Given the description of an element on the screen output the (x, y) to click on. 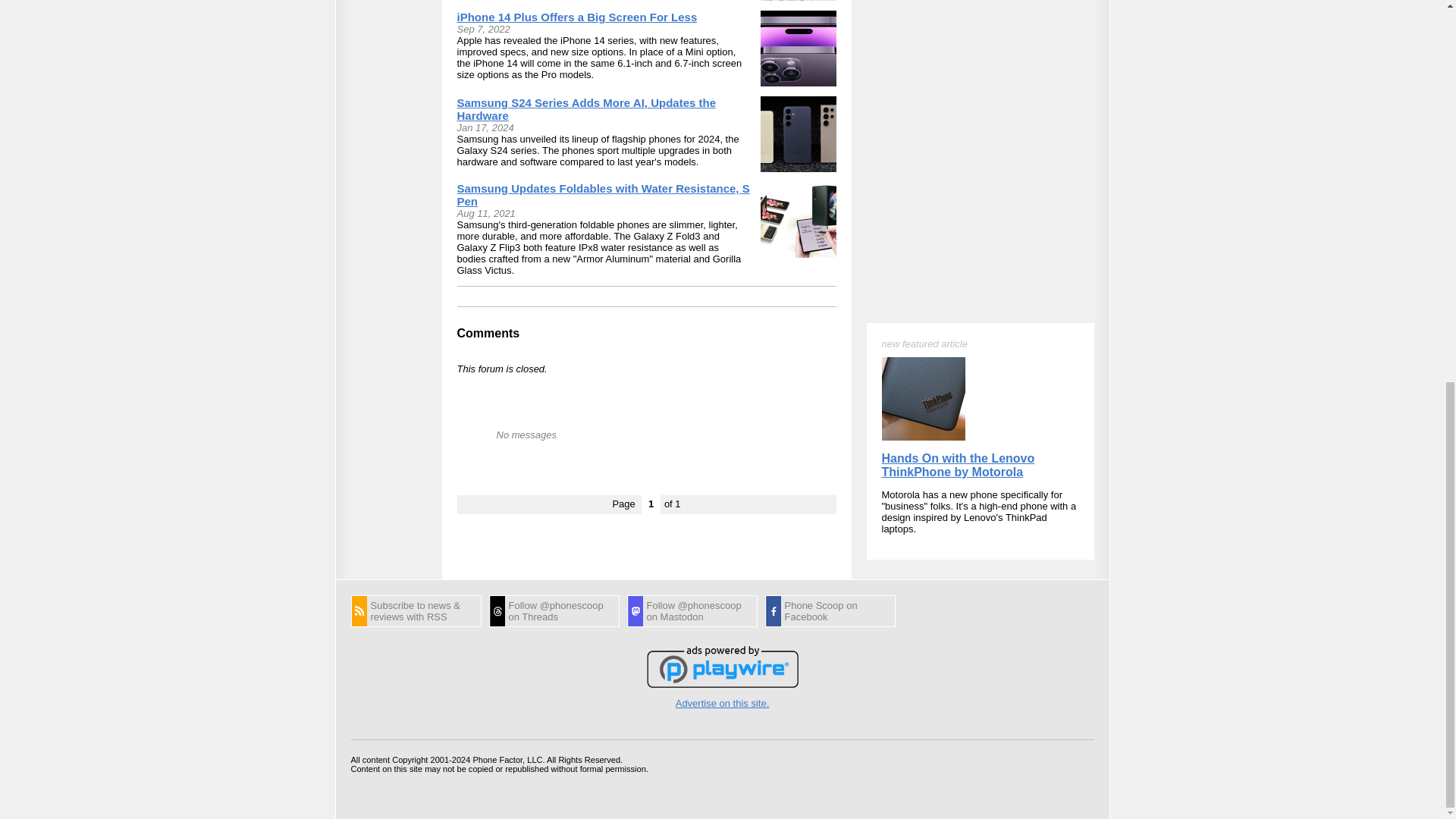
Hands On with the Lenovo ThinkPhone by Motorola (956, 196)
Comments (488, 332)
Phone Scoop on Facebook (829, 611)
Phone Scoop - Latest News (415, 611)
